Given the description of an element on the screen output the (x, y) to click on. 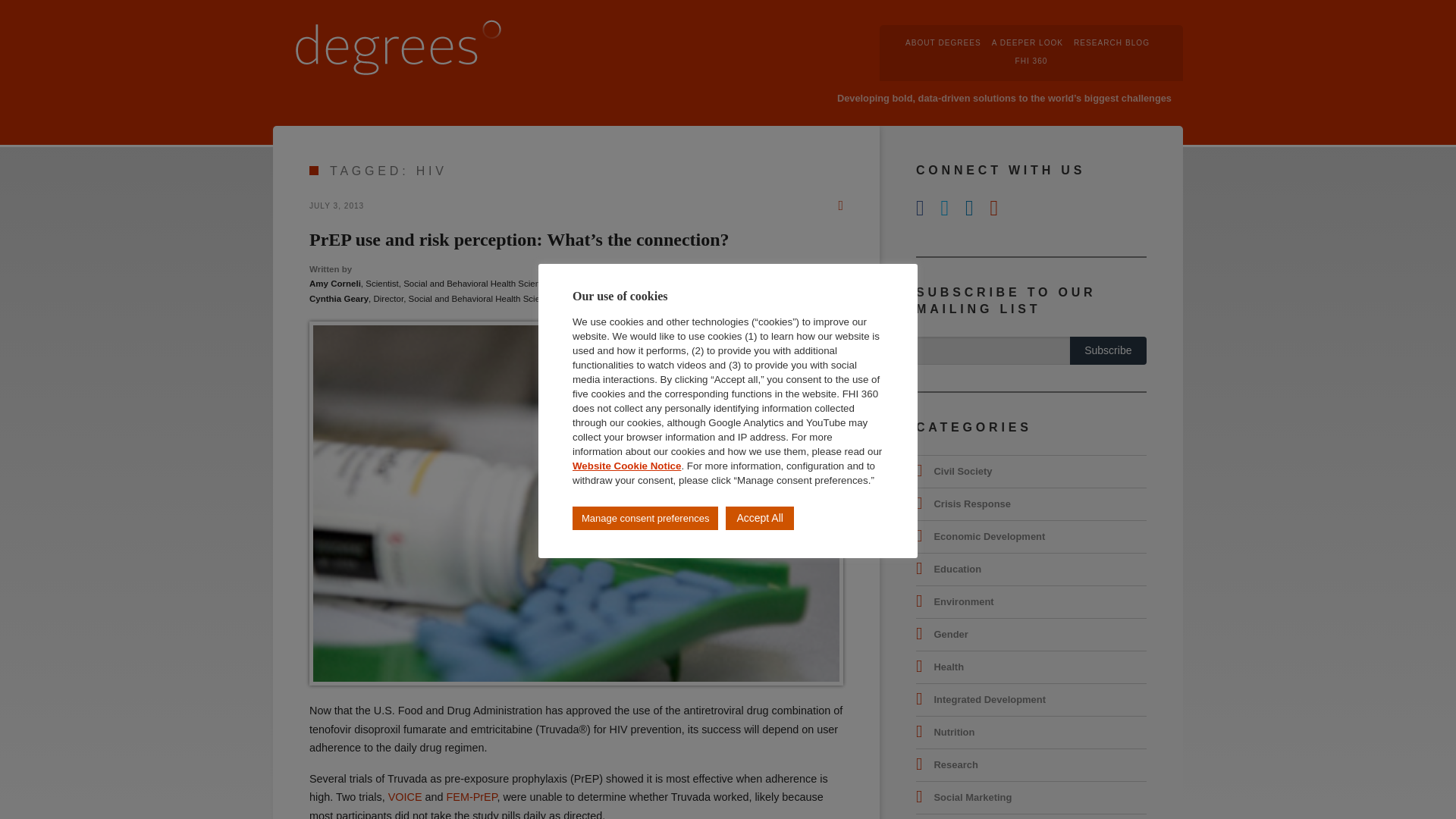
ABOUT DEGREES (943, 42)
Subscribe (1108, 350)
VOICE (405, 797)
A DEEPER LOOK (1026, 42)
FHI 360 (1031, 60)
FEM-PrEP (471, 797)
RESEARCH BLOG (1112, 42)
